Given the description of an element on the screen output the (x, y) to click on. 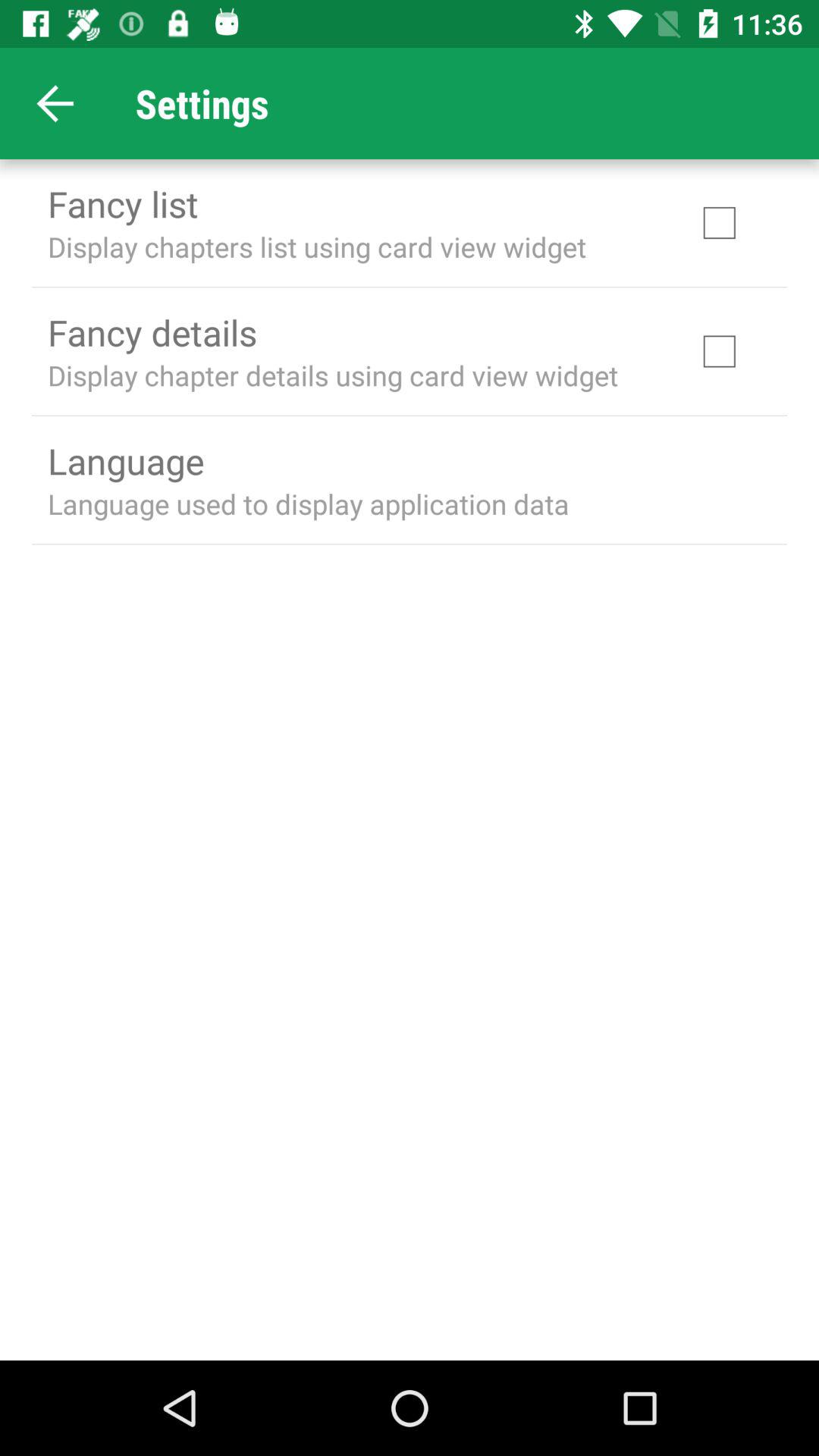
open the display chapter details icon (332, 375)
